Given the description of an element on the screen output the (x, y) to click on. 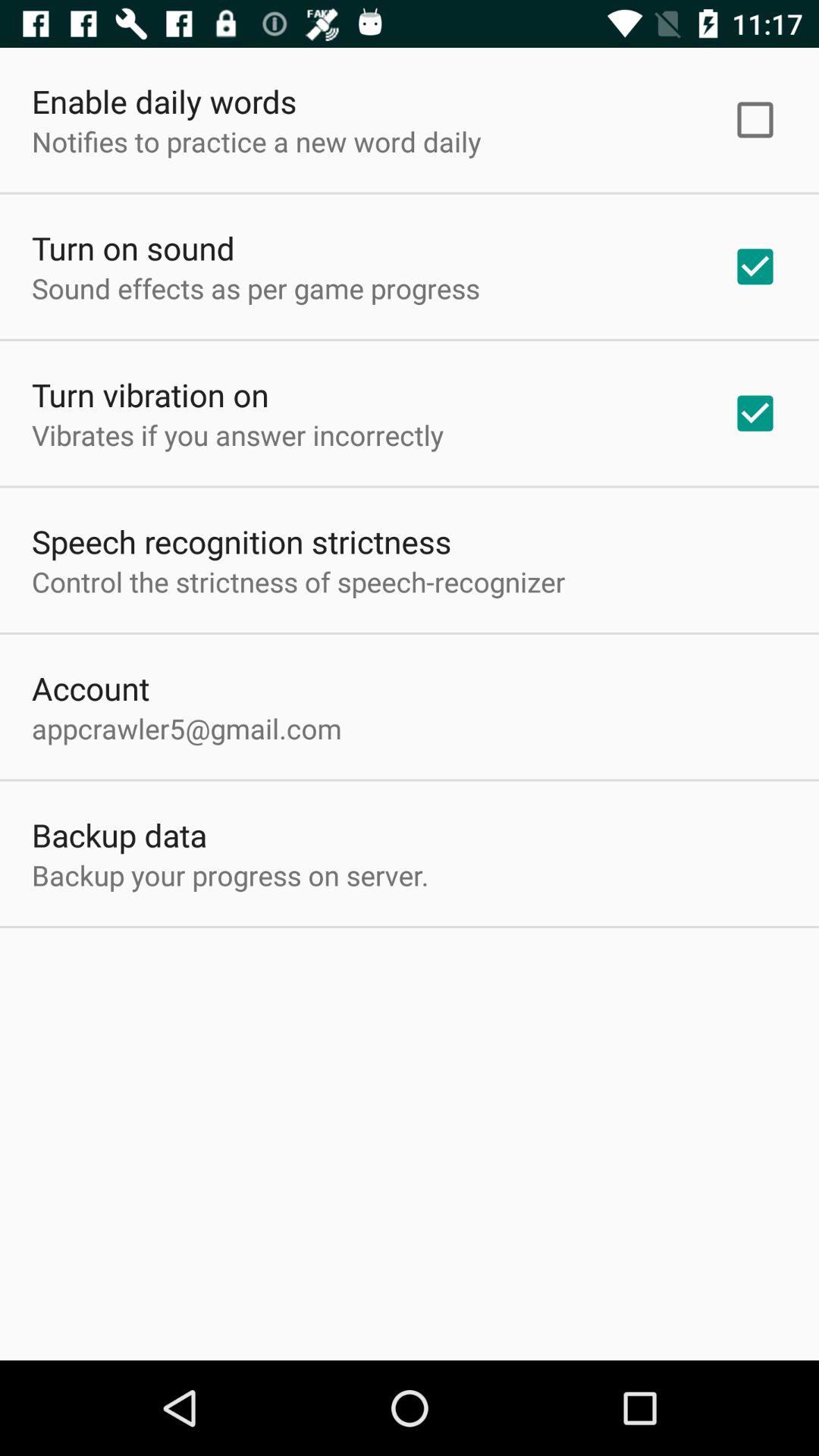
flip until the backup your progress icon (229, 875)
